Given the description of an element on the screen output the (x, y) to click on. 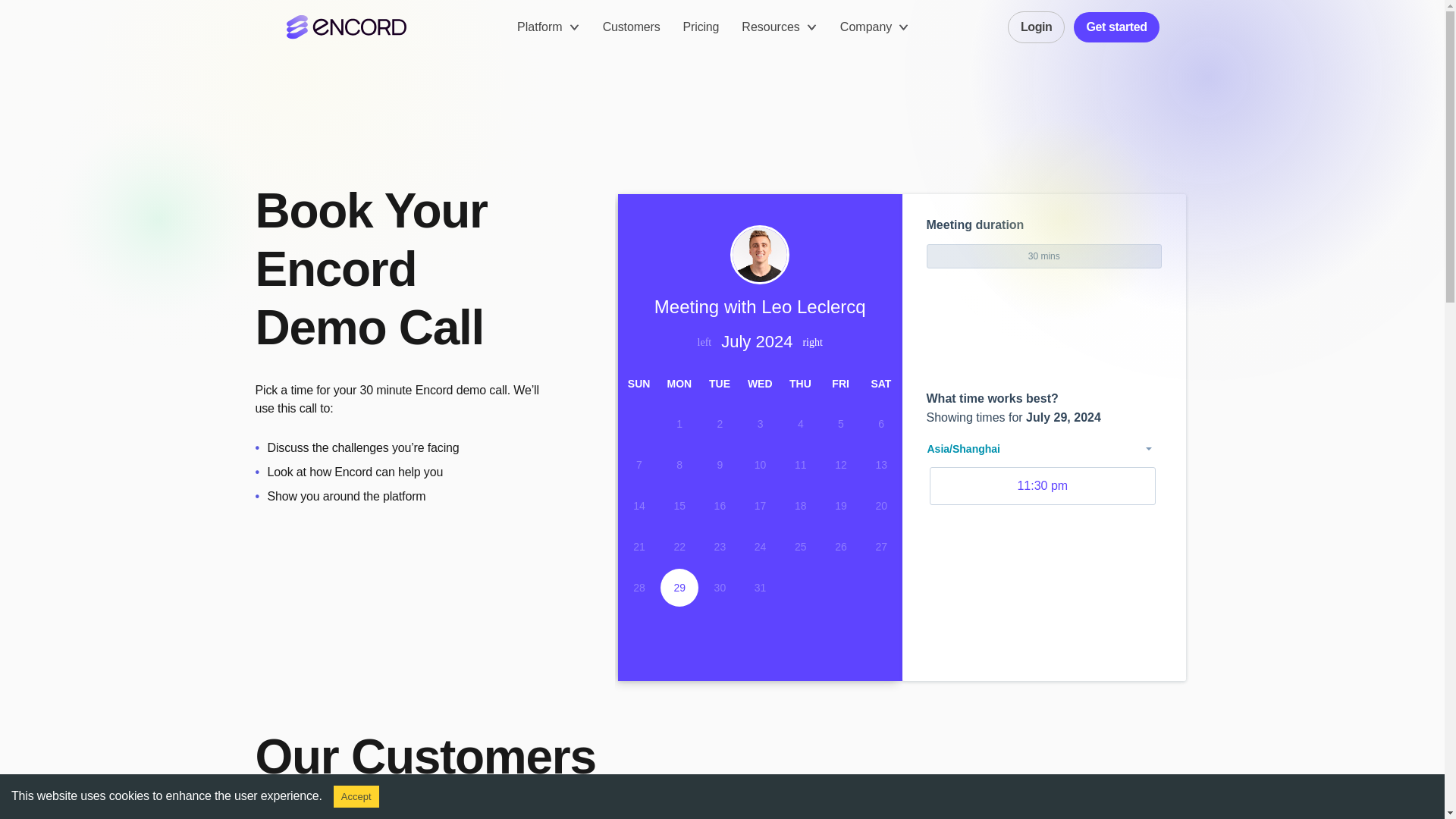
Login (1036, 27)
Company (874, 27)
Resources (778, 27)
Get started (1116, 27)
Platform (547, 27)
Pricing (700, 27)
Customers (631, 27)
